Given the description of an element on the screen output the (x, y) to click on. 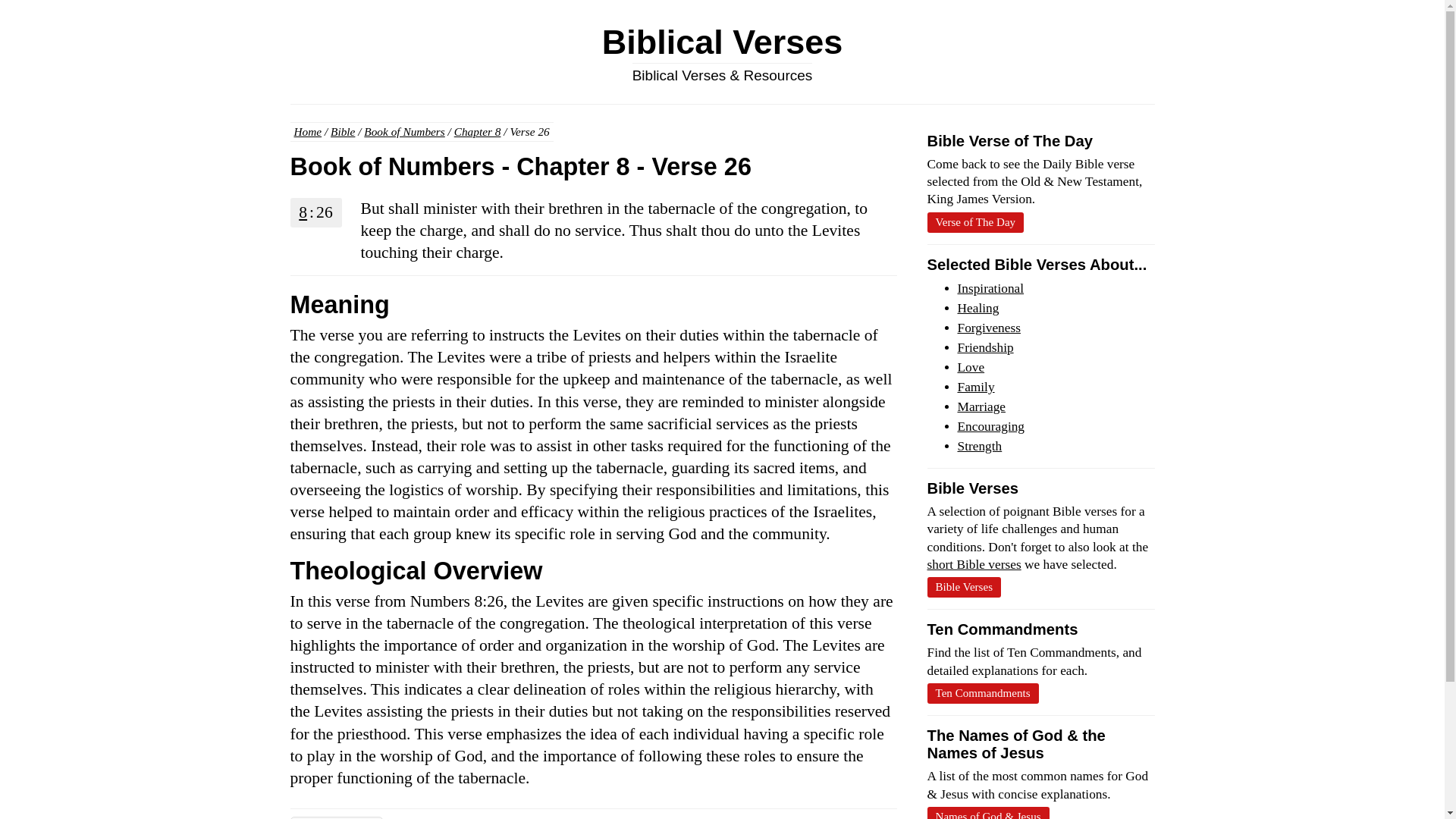
Marriage (981, 406)
Bible Verses (963, 587)
Previous Verse (335, 817)
Forgiveness (988, 327)
Chapter 8 (477, 131)
Verse of The Day (974, 222)
Ten Commandments (982, 693)
Encouraging (990, 426)
Biblical Verses (722, 41)
Family (975, 386)
Strength (978, 445)
Book of Numbers (404, 131)
Love (970, 367)
Inspirational (989, 288)
Healing (977, 308)
